Given the description of an element on the screen output the (x, y) to click on. 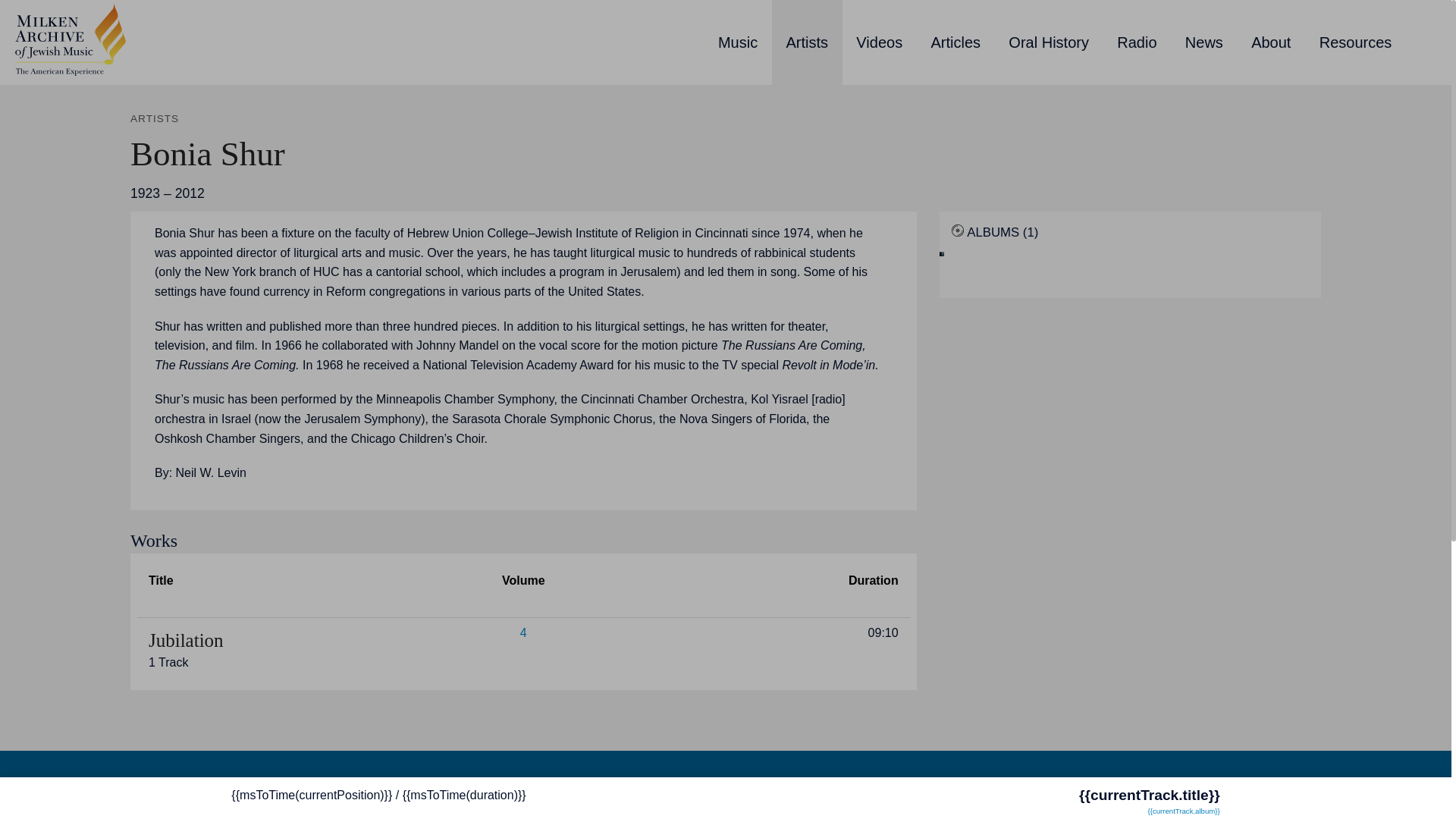
Milken Archive of Jewish Music (69, 38)
Resources (1355, 42)
Oral History (1048, 42)
Articles (955, 42)
